Given the description of an element on the screen output the (x, y) to click on. 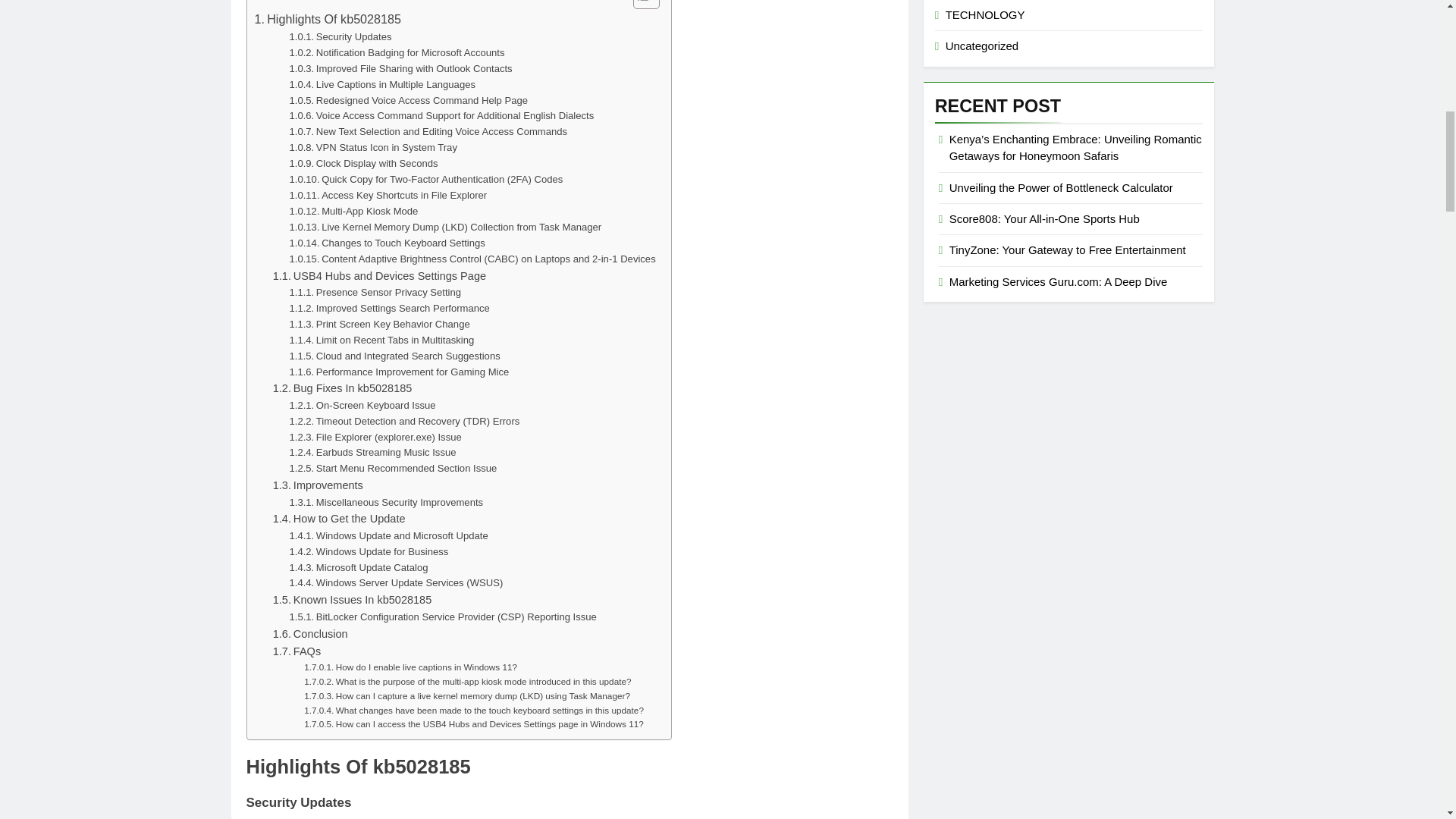
Access Key Shortcuts in File Explorer (388, 195)
Live Captions in Multiple Languages (382, 84)
Redesigned Voice Access Command Help Page (408, 100)
Live Captions in Multiple Languages (382, 84)
Multi-App Kiosk Mode (354, 211)
Improved File Sharing with Outlook Contacts (400, 68)
Security Updates (340, 37)
Security Updates (340, 37)
VPN Status Icon in System Tray (373, 148)
Notification Badging for Microsoft Accounts (397, 53)
